Given the description of an element on the screen output the (x, y) to click on. 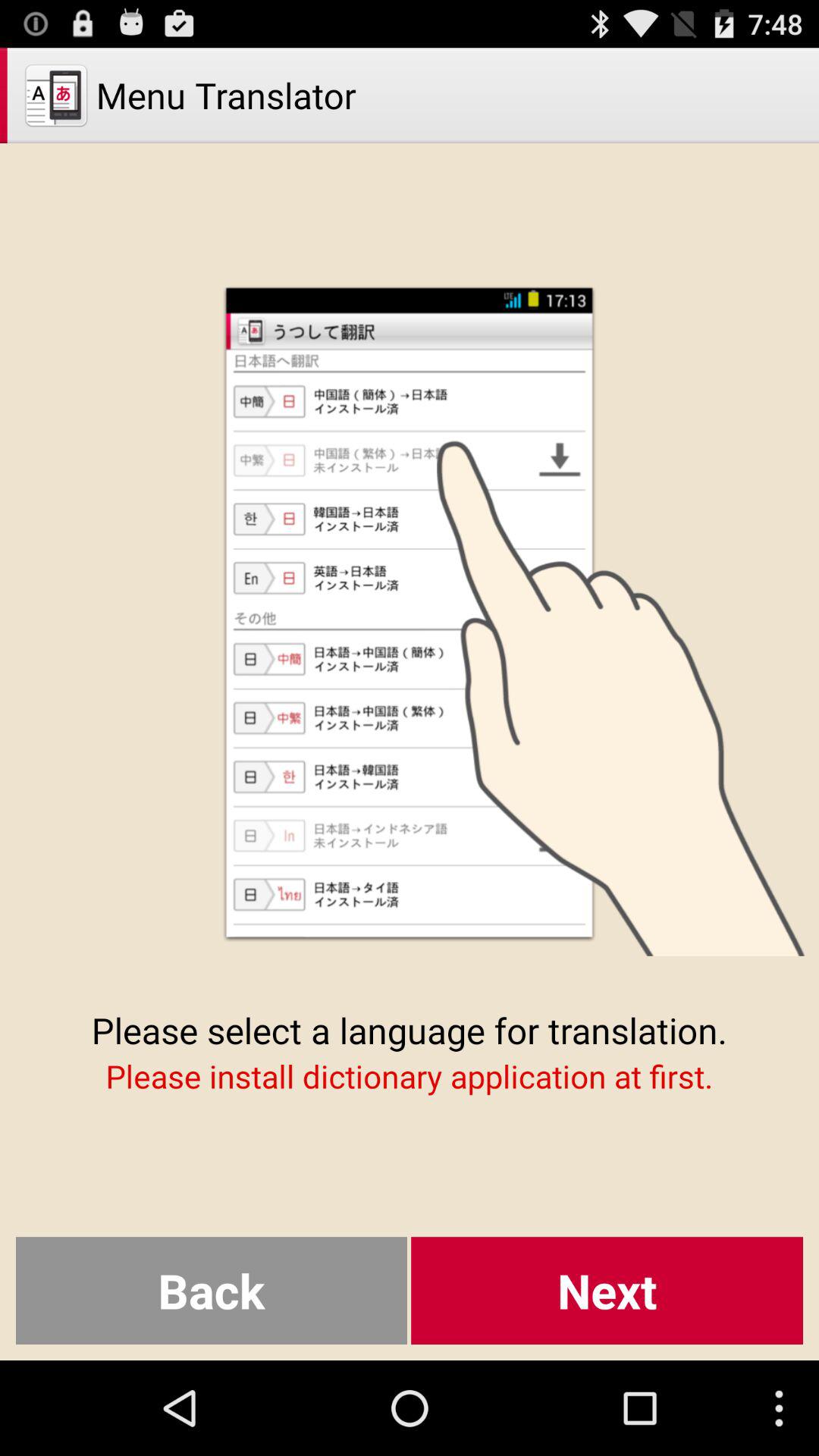
select button next to the back (607, 1290)
